Given the description of an element on the screen output the (x, y) to click on. 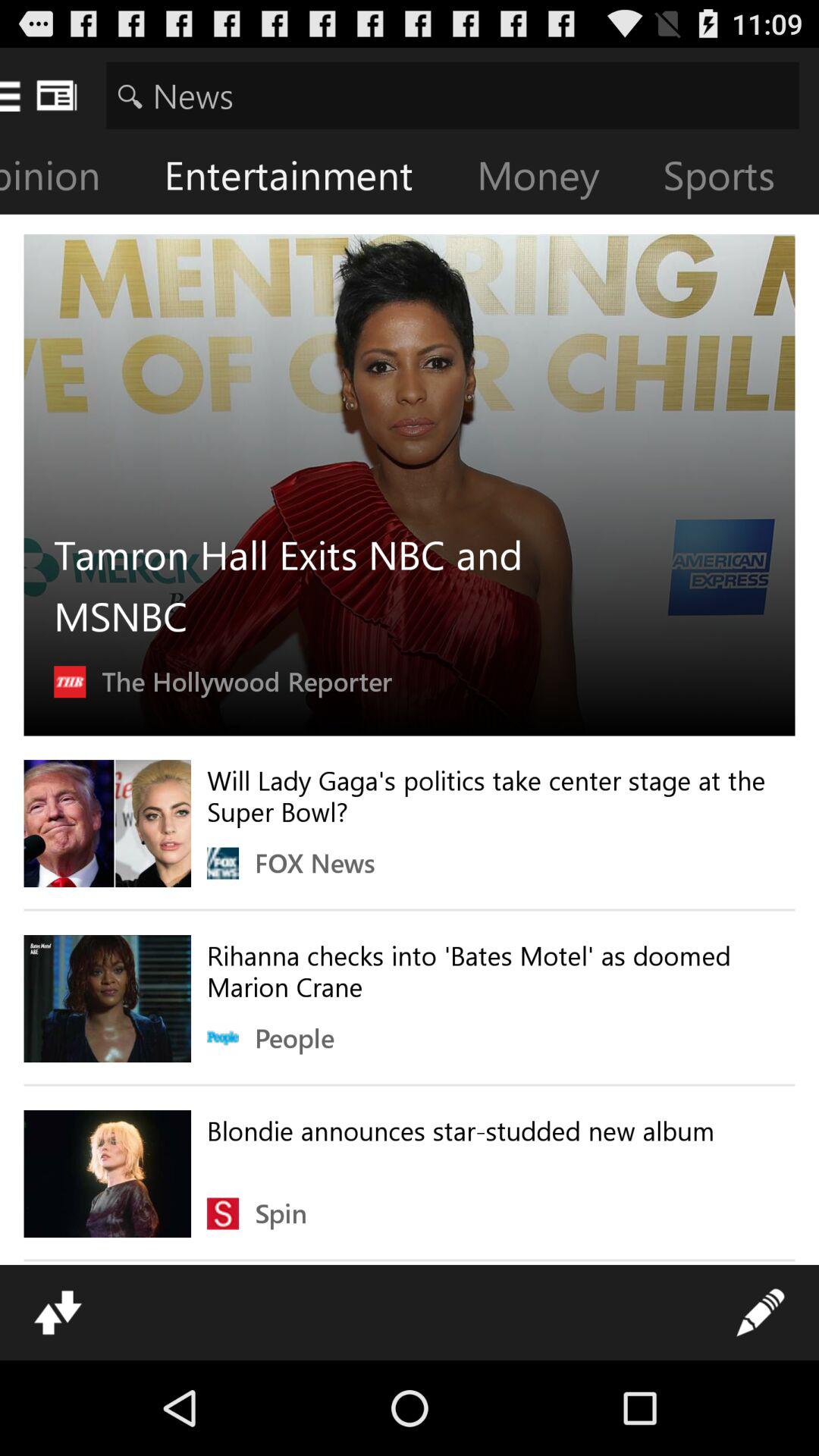
open icon next to the sports item (550, 178)
